Given the description of an element on the screen output the (x, y) to click on. 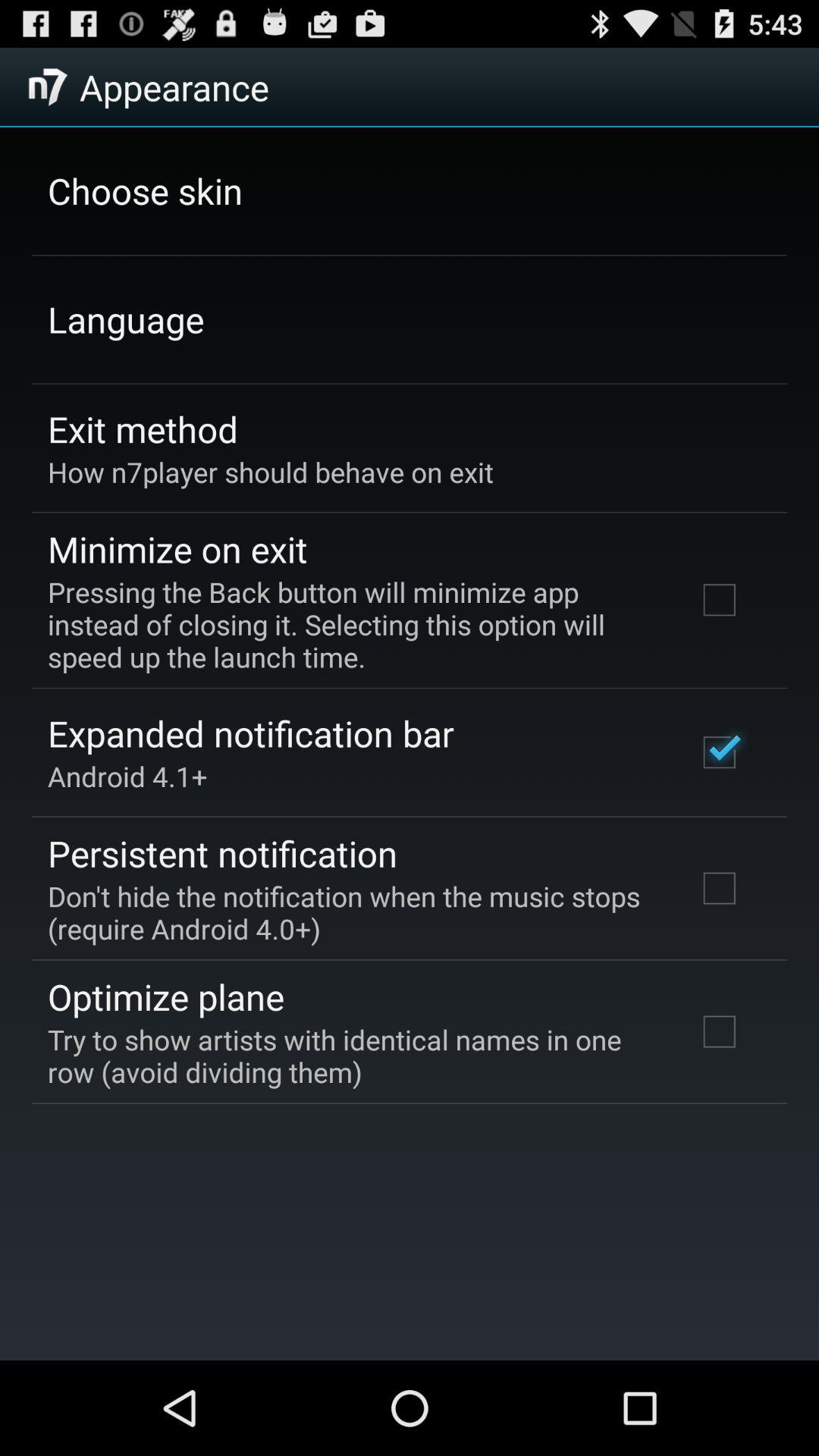
scroll until expanded notification bar app (250, 733)
